Given the description of an element on the screen output the (x, y) to click on. 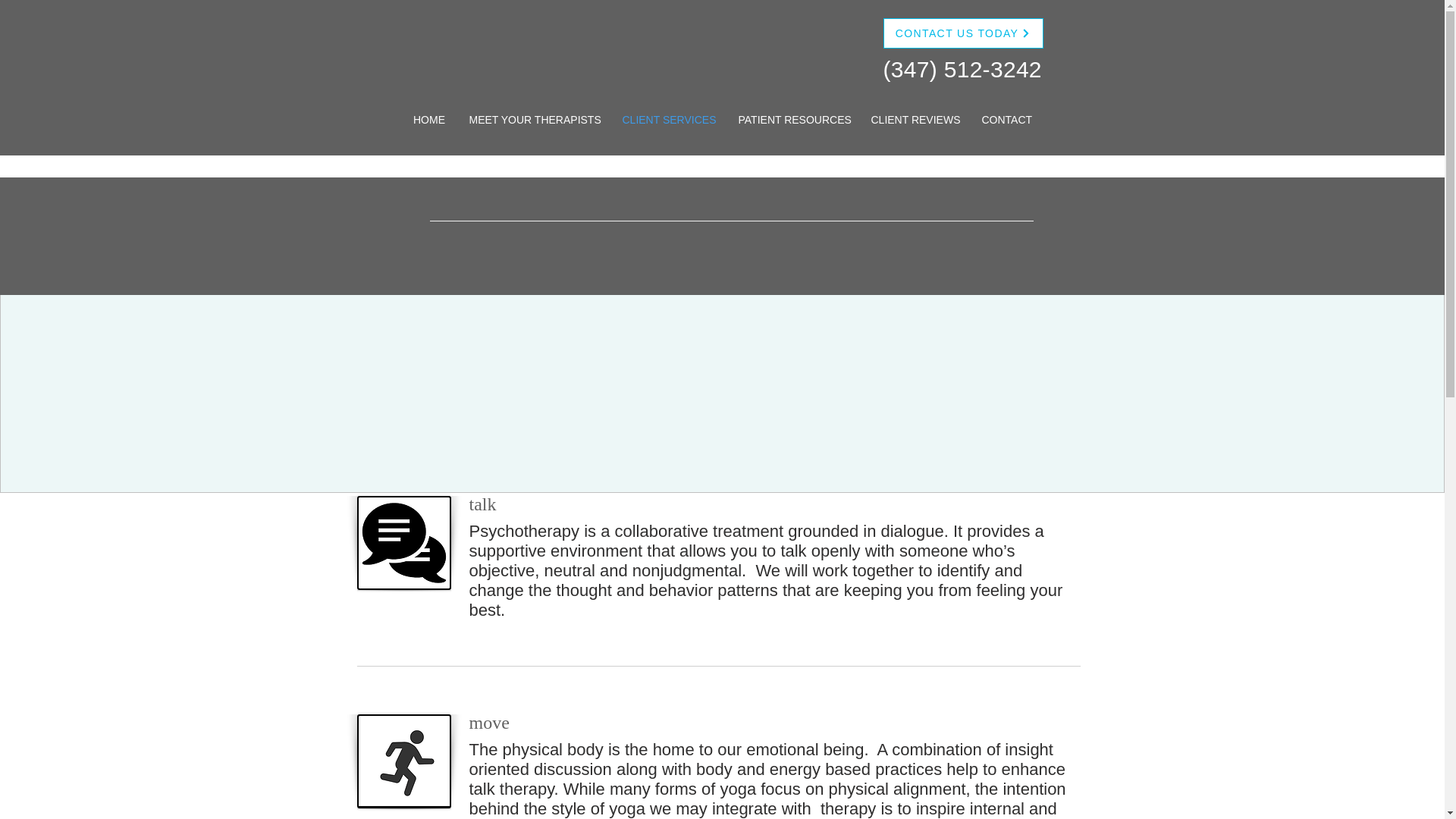
CLIENT SERVICES (668, 119)
CONTACT US TODAY (962, 33)
CONTACT (1007, 119)
MEET YOUR THERAPISTS (534, 119)
HOME (428, 119)
CLIENT REVIEWS (915, 119)
talk.png (402, 542)
